Given the description of an element on the screen output the (x, y) to click on. 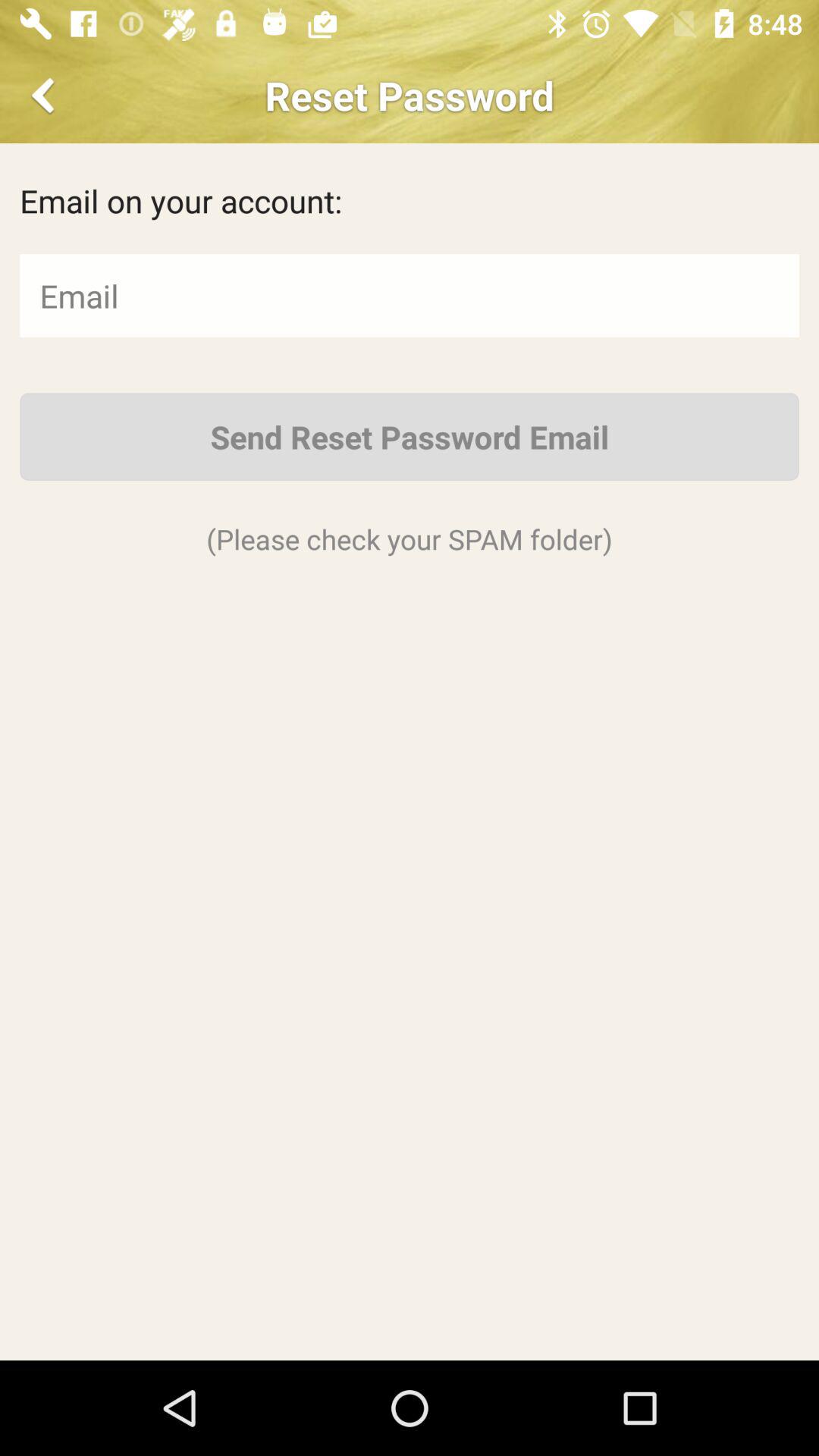
back (45, 95)
